Given the description of an element on the screen output the (x, y) to click on. 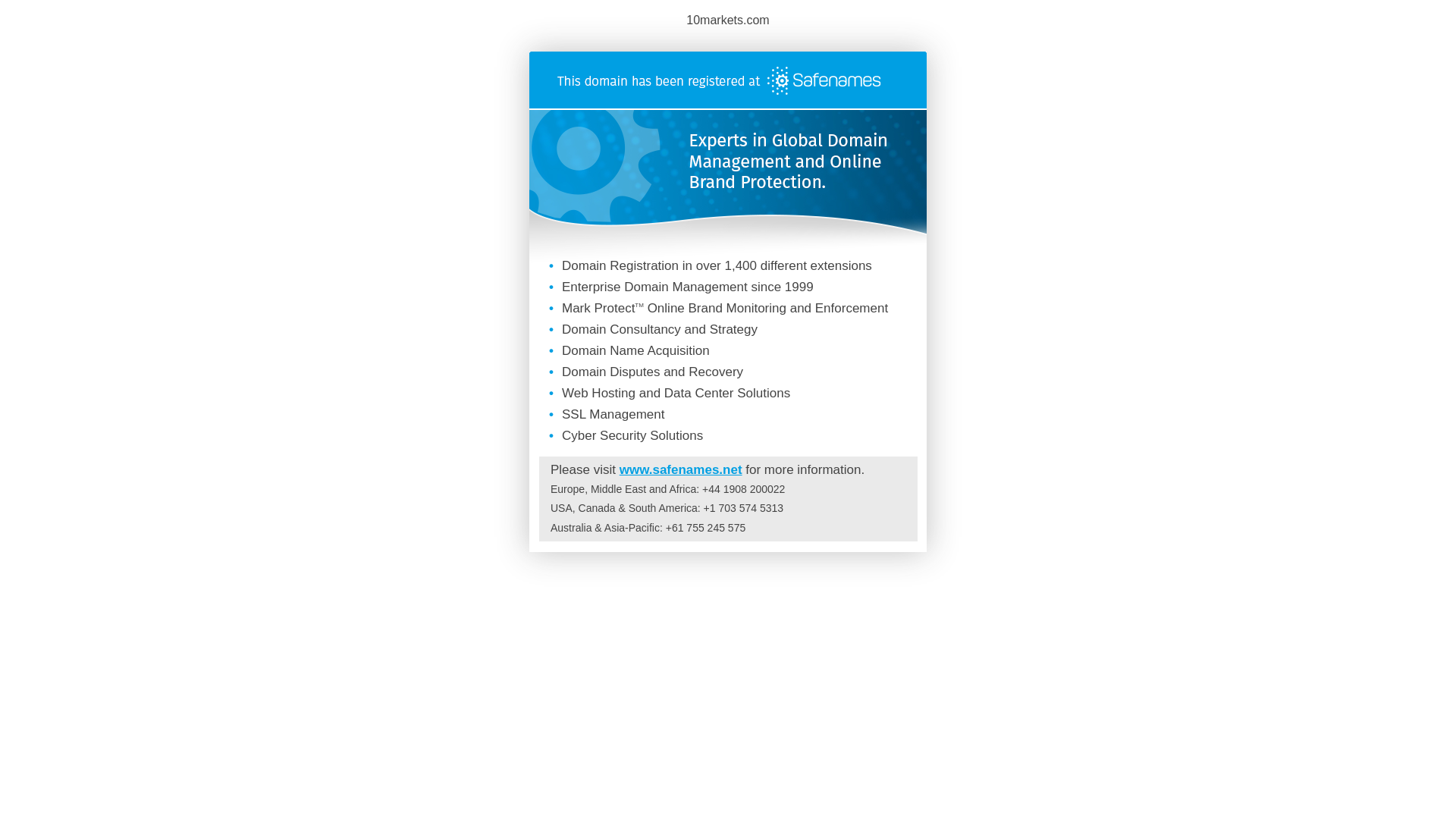
www.safenames.net Element type: text (680, 469)
